Given the description of an element on the screen output the (x, y) to click on. 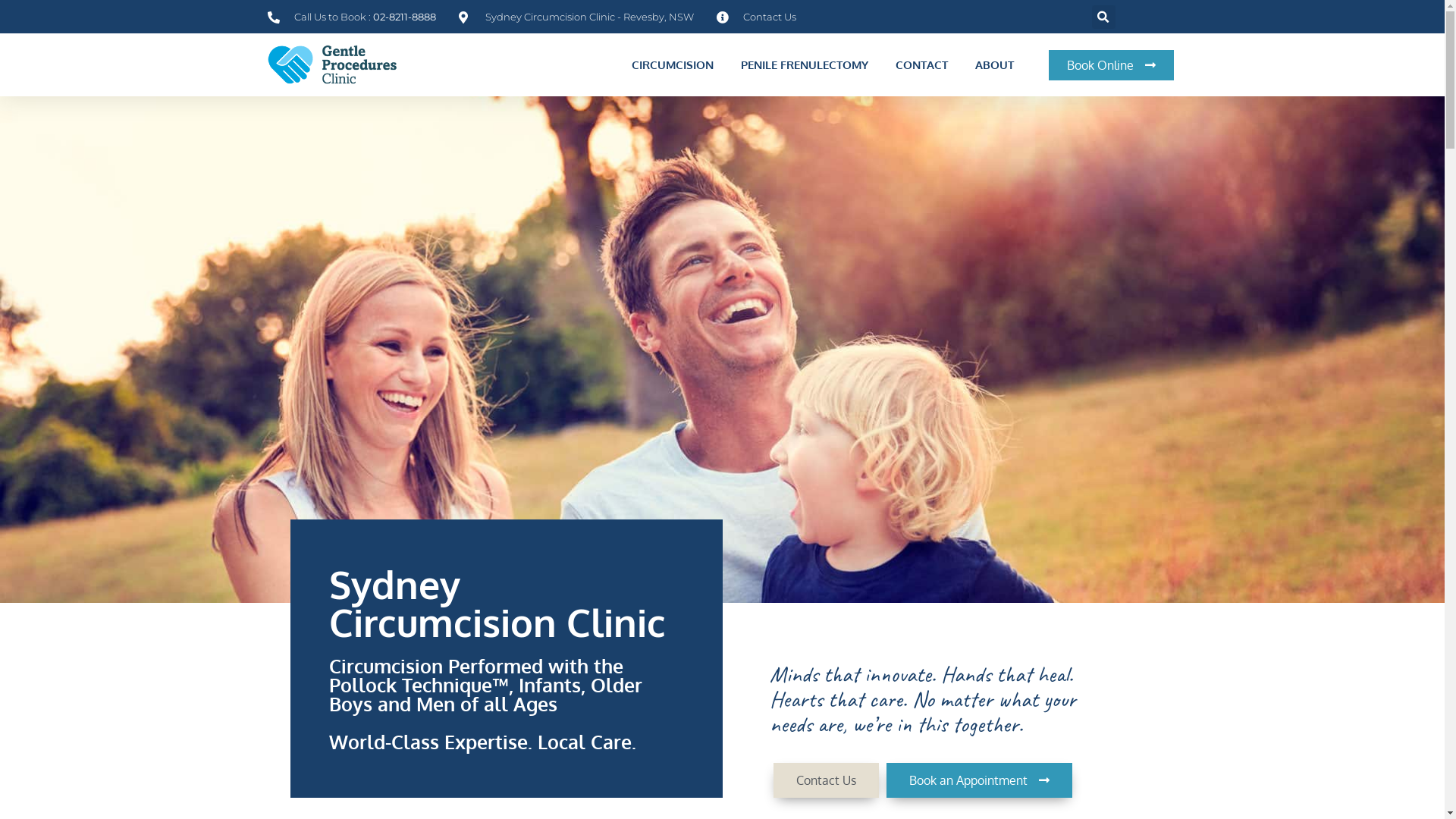
Book Online Element type: text (1110, 65)
PENILE FRENULECTOMY Element type: text (803, 64)
Contact Us Element type: text (755, 16)
Sydney Circumcision Clinic - Revesby, NSW Element type: text (575, 16)
Book an Appointment Element type: text (979, 779)
CIRCUMCISION Element type: text (671, 64)
ABOUT Element type: text (994, 64)
CONTACT Element type: text (920, 64)
Contact Us Element type: text (825, 779)
Call Us to Book : 02-8211-8888 Element type: text (350, 16)
